Given the description of an element on the screen output the (x, y) to click on. 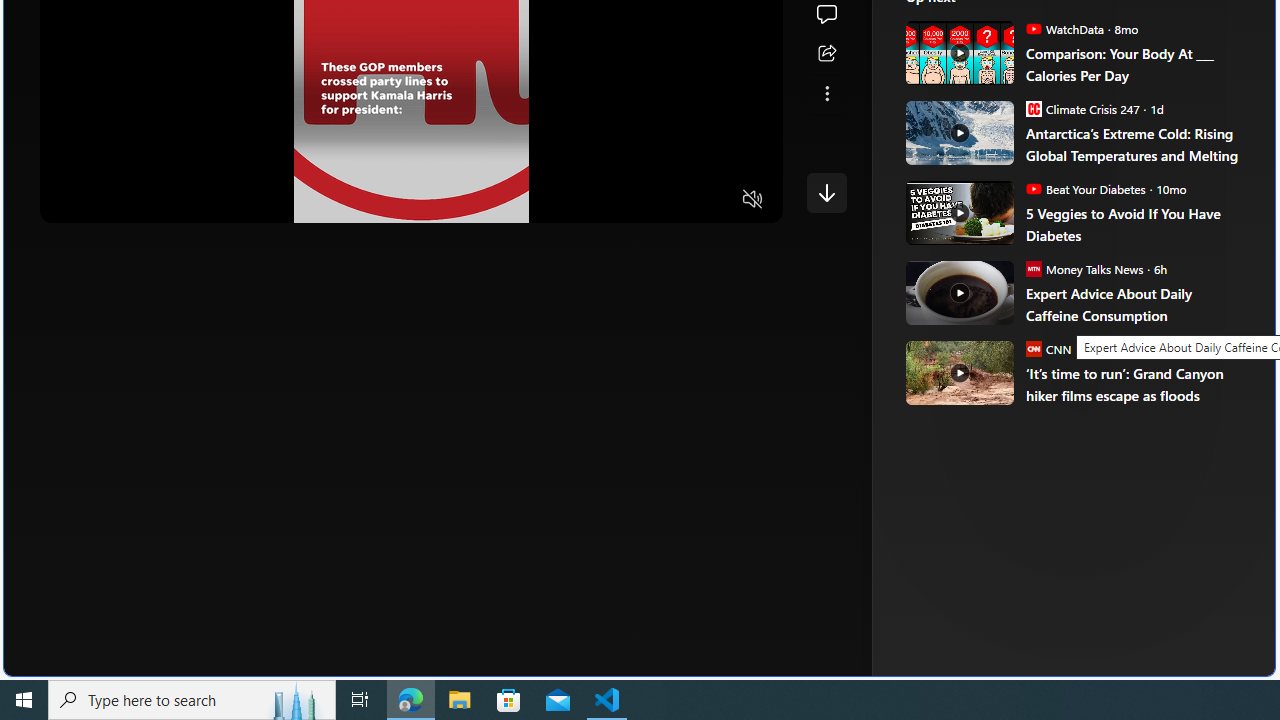
CNN CNN (1048, 348)
WatchData WatchData (1064, 28)
Comparison: Your Body At ___ Calories Per Day (958, 52)
Money Talks News (1033, 268)
Expert Advice About Daily Caffeine Consumption (1136, 304)
CNN (1033, 348)
